Given the description of an element on the screen output the (x, y) to click on. 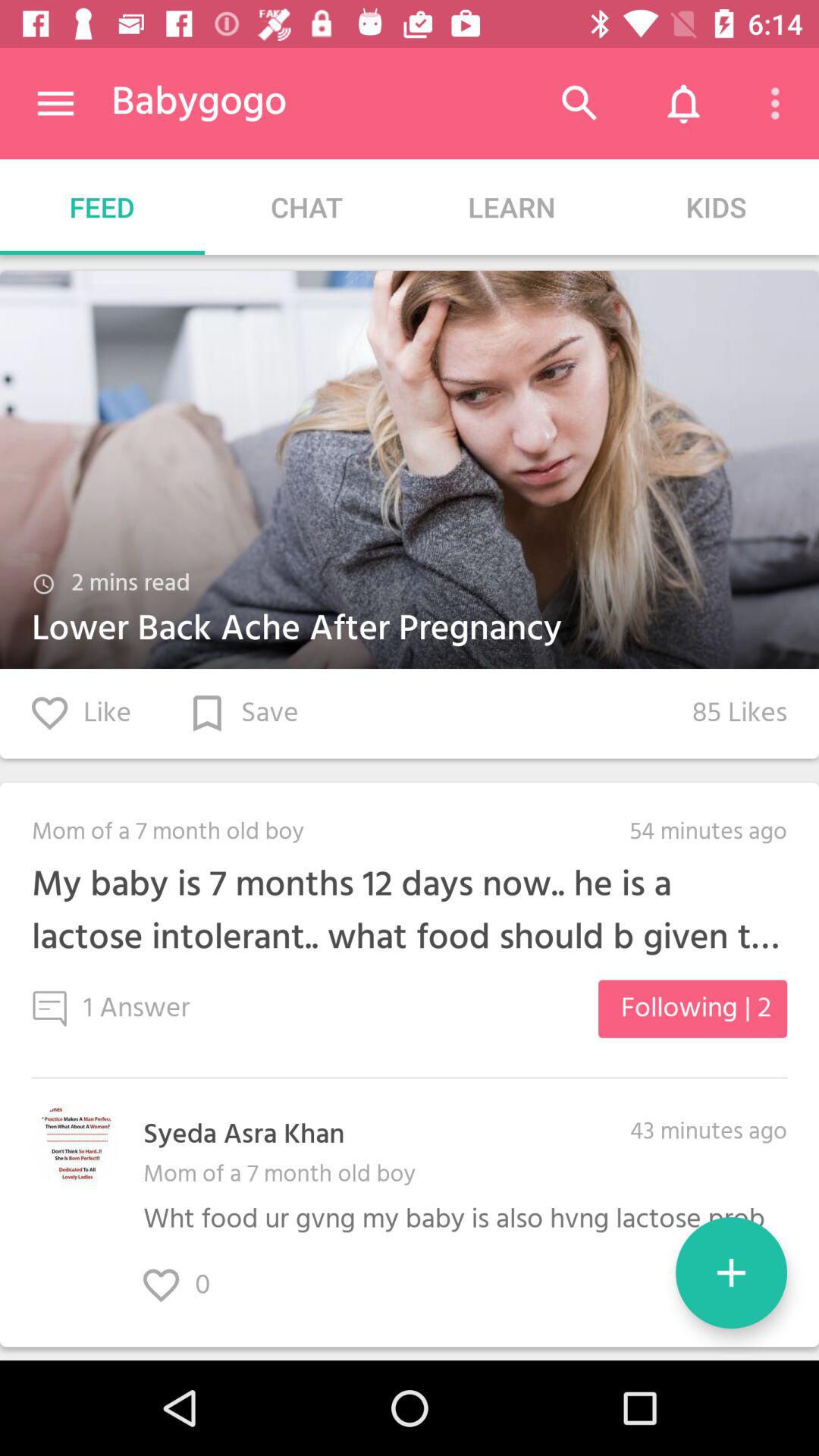
click item to the right of babygogo icon (579, 103)
